Given the description of an element on the screen output the (x, y) to click on. 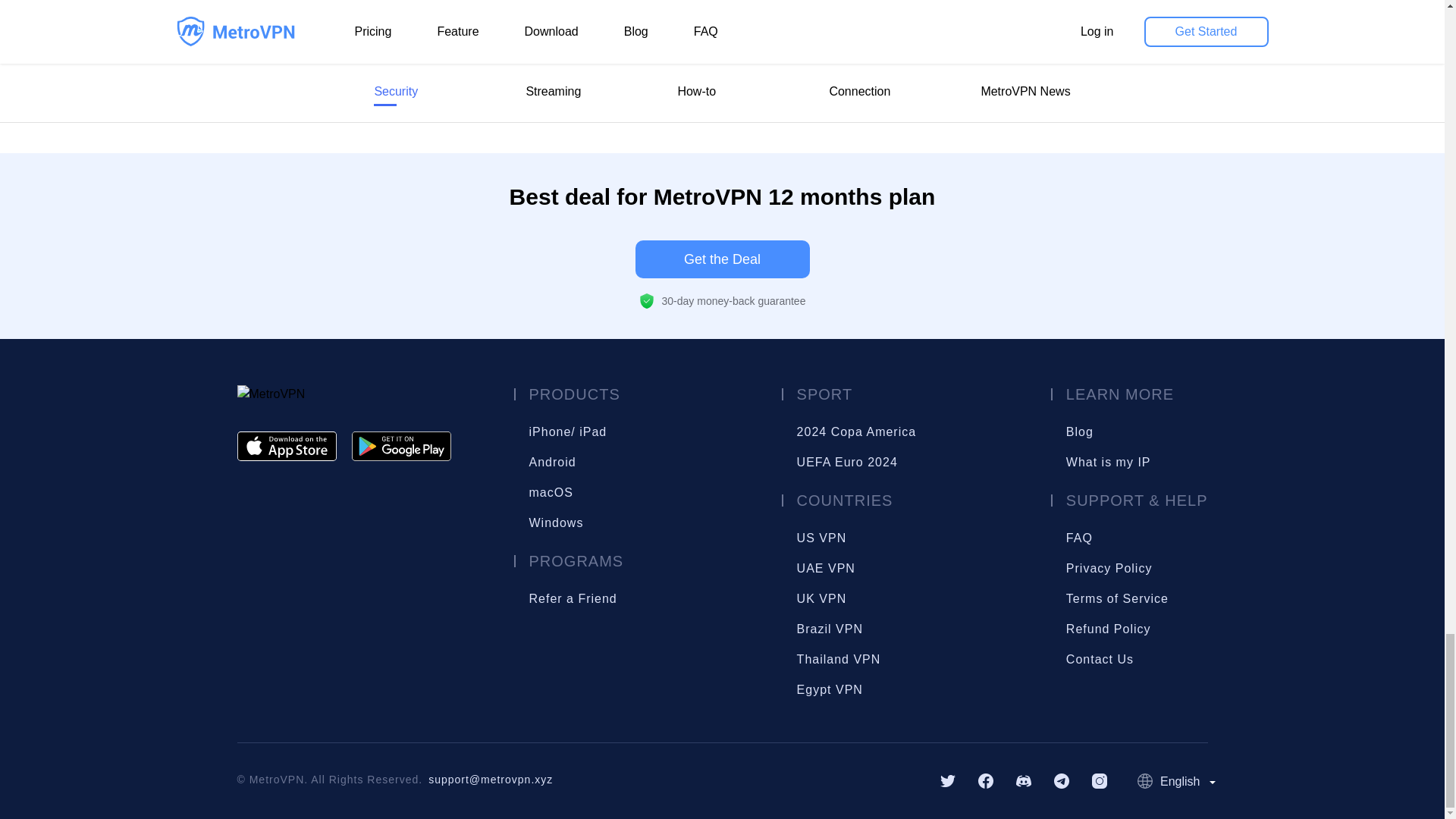
Refer a Friend (541, 598)
Get the Deal (721, 259)
macOS (549, 492)
US VPN (809, 538)
UAE VPN (809, 568)
UEFA Euro 2024 (809, 462)
Android (551, 462)
2024 Copa America (809, 431)
UK VPN (809, 598)
Windows (554, 522)
